Given the description of an element on the screen output the (x, y) to click on. 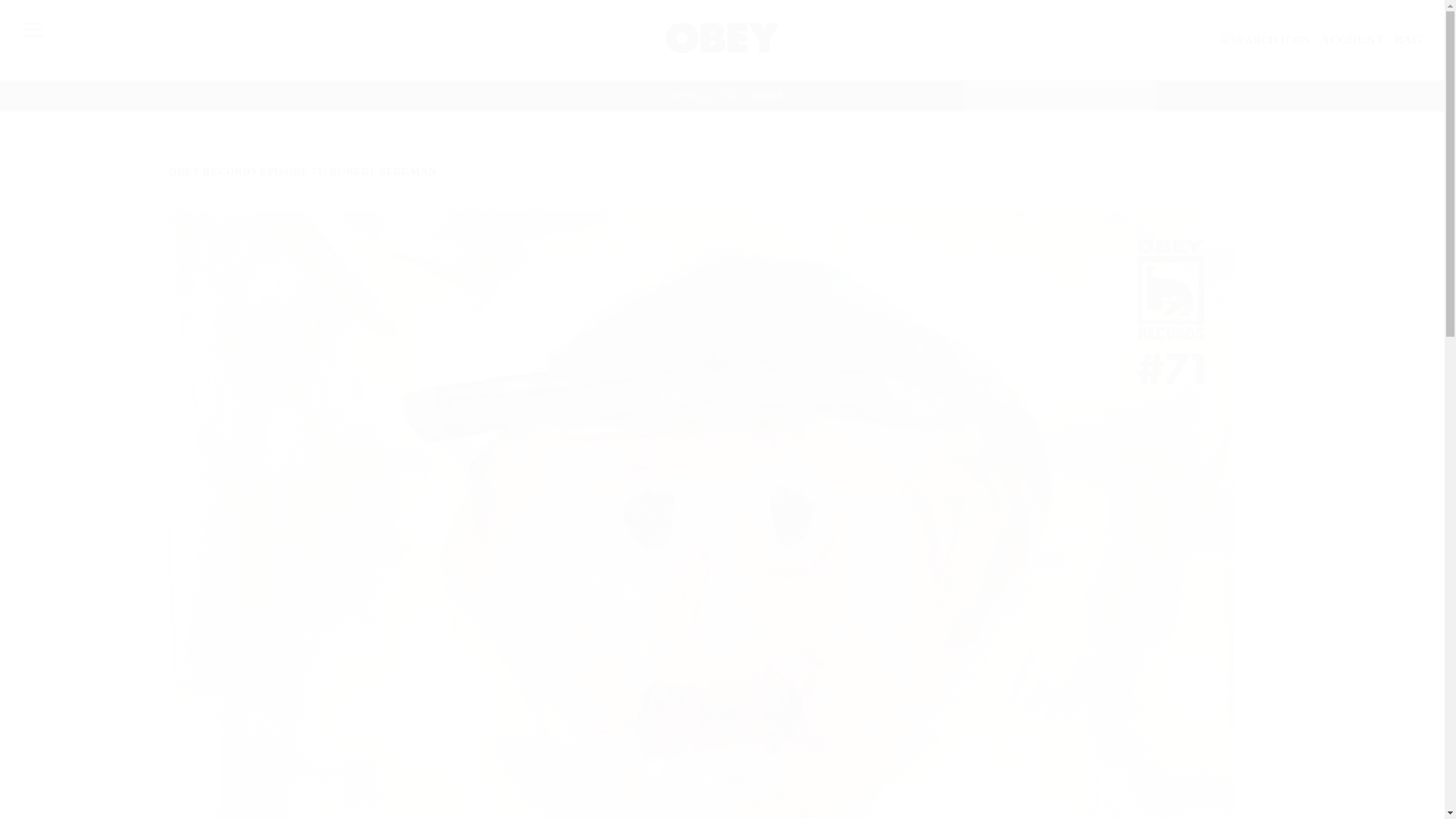
ACCOUNT (1352, 40)
BAG (1408, 40)
Home (721, 49)
